Given the description of an element on the screen output the (x, y) to click on. 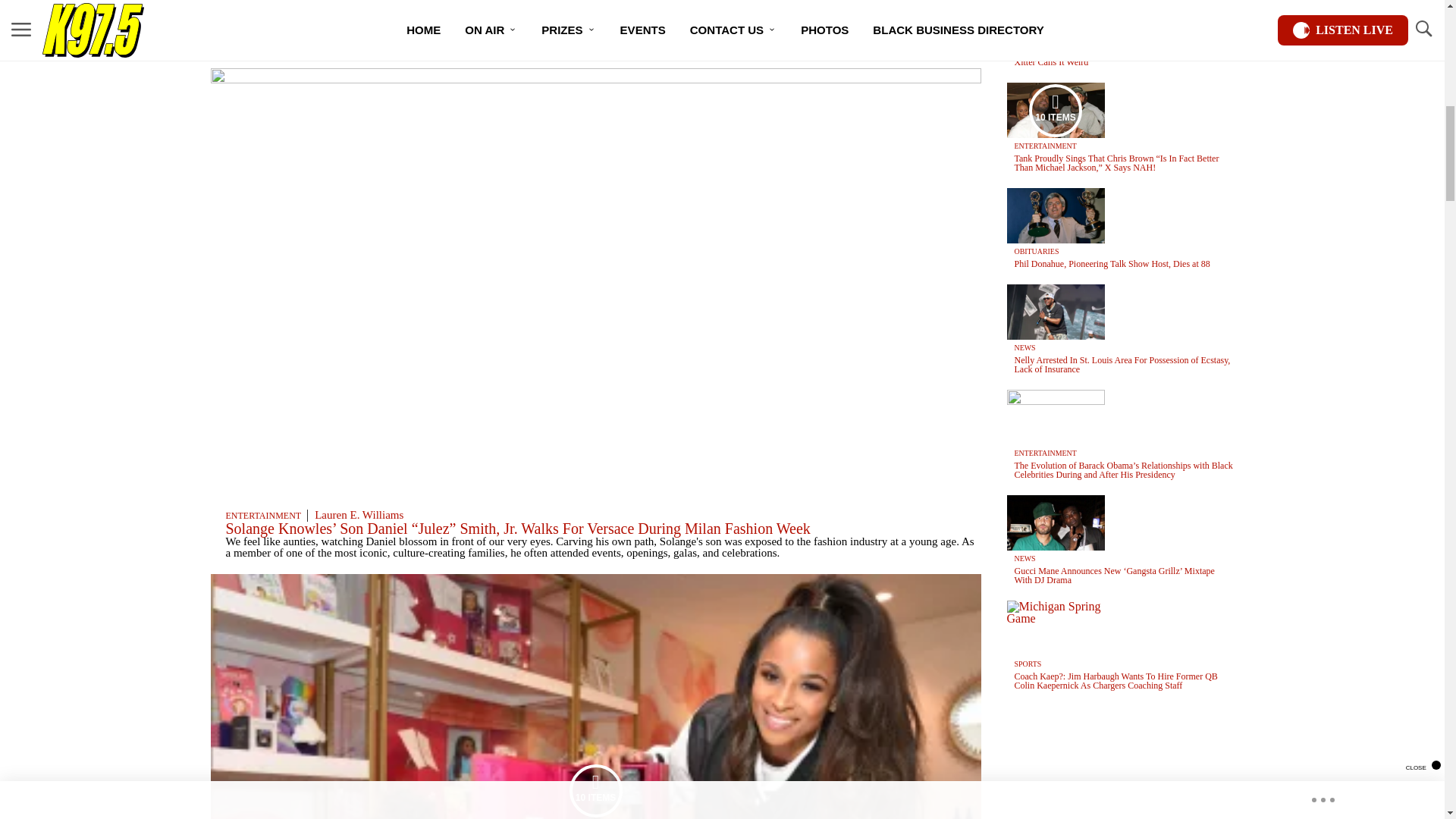
D.L. Chandler (297, 20)
Media Playlist (596, 790)
Media Playlist (1055, 109)
Media Playlist (1055, 15)
Laila! Confirms That Yasiin Bey Is Her Father (366, 33)
Lauren E. Williams (358, 514)
NEWS (238, 20)
ENTERTAINMENT (263, 515)
